Given the description of an element on the screen output the (x, y) to click on. 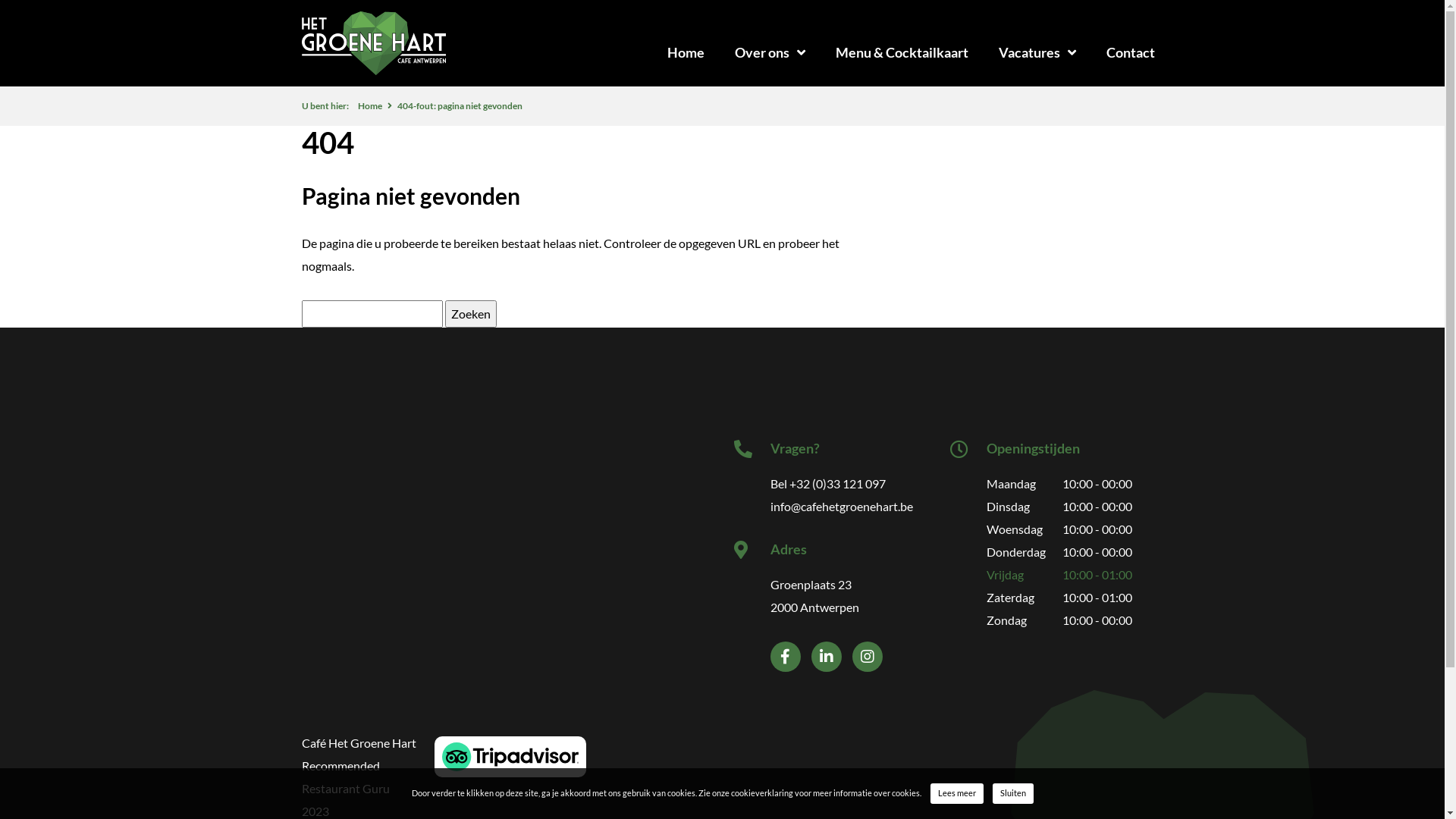
Lees meer Element type: text (955, 793)
Home Element type: text (369, 105)
Menu & Cocktailkaart Element type: text (901, 52)
info@cafehetgroenehart.be Element type: text (841, 505)
Over ons Element type: text (769, 52)
+32 (0)33 121 097 Element type: text (836, 483)
Vacatures Element type: text (1036, 52)
Restaurant Guru Element type: text (345, 788)
Contact Element type: text (1129, 52)
Sluiten Element type: text (1011, 793)
Zoeken Element type: text (469, 313)
Home Element type: text (685, 52)
